Given the description of an element on the screen output the (x, y) to click on. 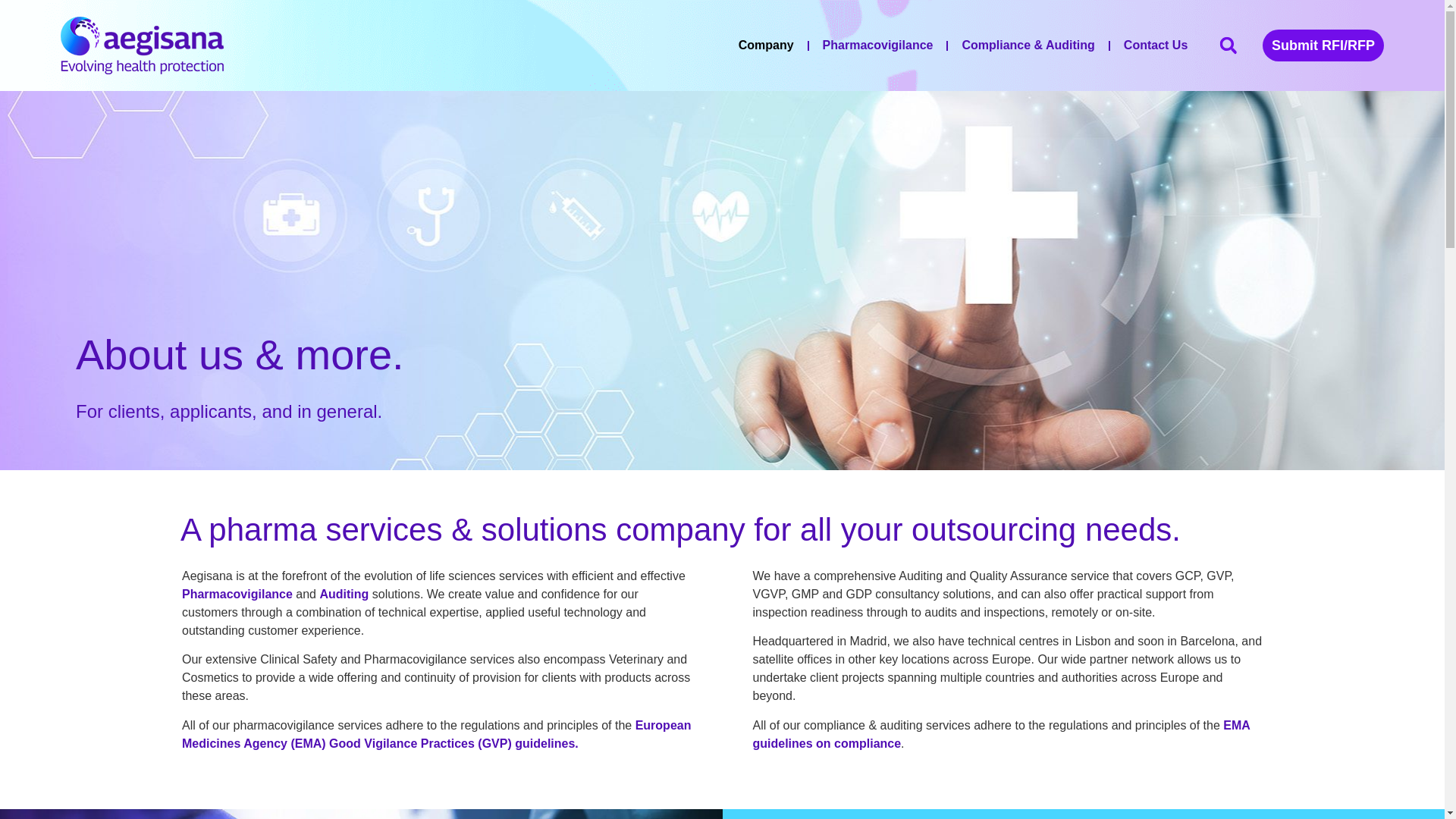
Pharmacovigilance (237, 594)
Company (766, 45)
Auditing (343, 594)
Contact Us (1155, 45)
Pharmacovigilance (878, 45)
EMA guidelines on compliance (1000, 734)
